Given the description of an element on the screen output the (x, y) to click on. 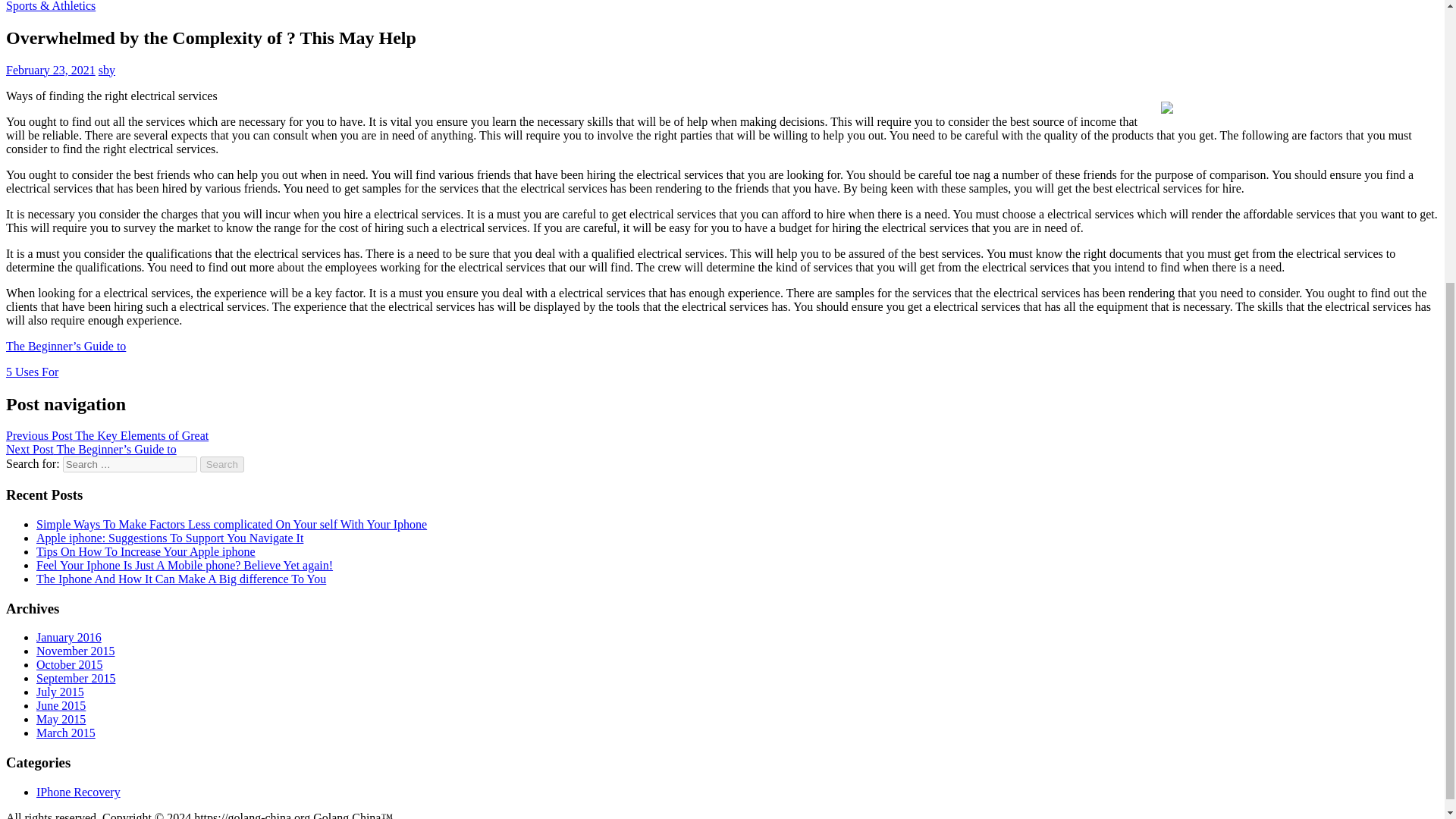
March 2015 (66, 732)
IPhone Recovery (78, 791)
sby (107, 69)
The Iphone And How It Can Make A Big difference To You (181, 578)
Search (222, 464)
Search (222, 464)
Previous Post The Key Elements of Great (106, 435)
June 2015 (60, 705)
Tips On How To Increase Your Apple iphone (146, 551)
October 2015 (69, 664)
November 2015 (75, 650)
July 2015 (60, 691)
Search (222, 464)
February 23, 2021 (50, 69)
